Given the description of an element on the screen output the (x, y) to click on. 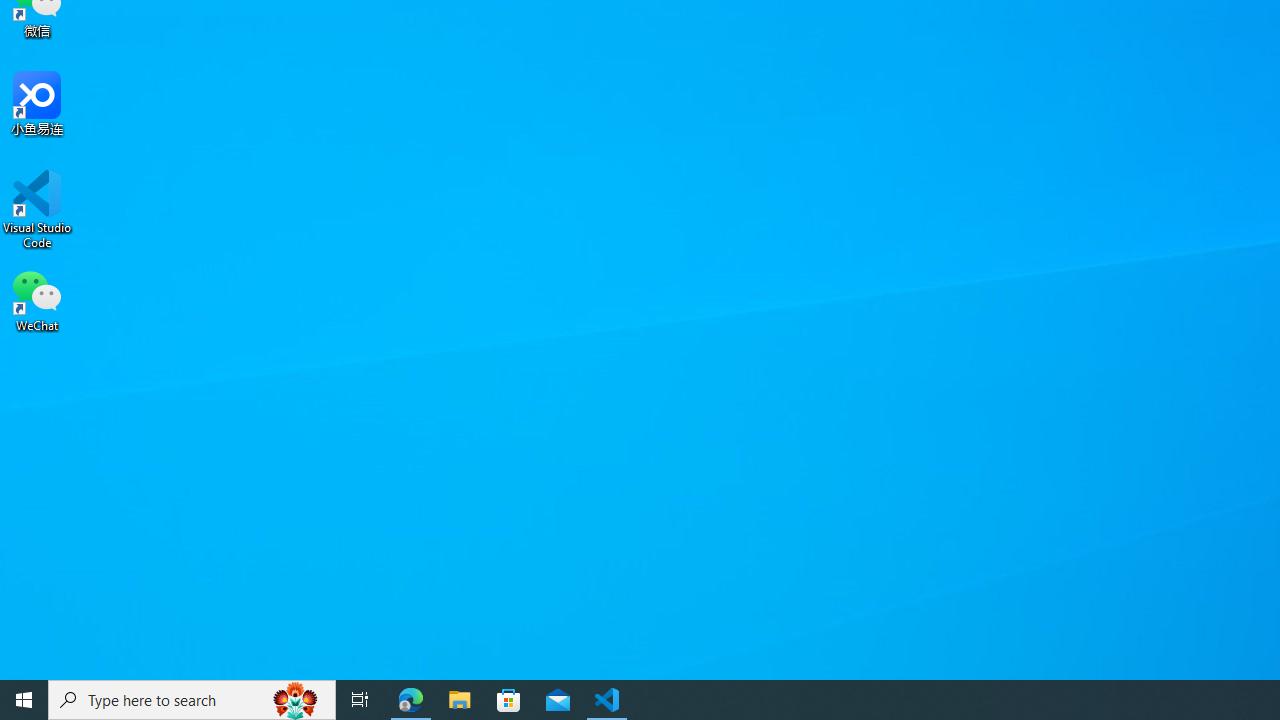
Microsoft Store (509, 699)
Start (24, 699)
Search highlights icon opens search home window (295, 699)
File Explorer (460, 699)
Task View (359, 699)
Visual Studio Code (37, 209)
Visual Studio Code - 1 running window (607, 699)
Microsoft Edge - 1 running window (411, 699)
Type here to search (191, 699)
WeChat (37, 299)
